Given the description of an element on the screen output the (x, y) to click on. 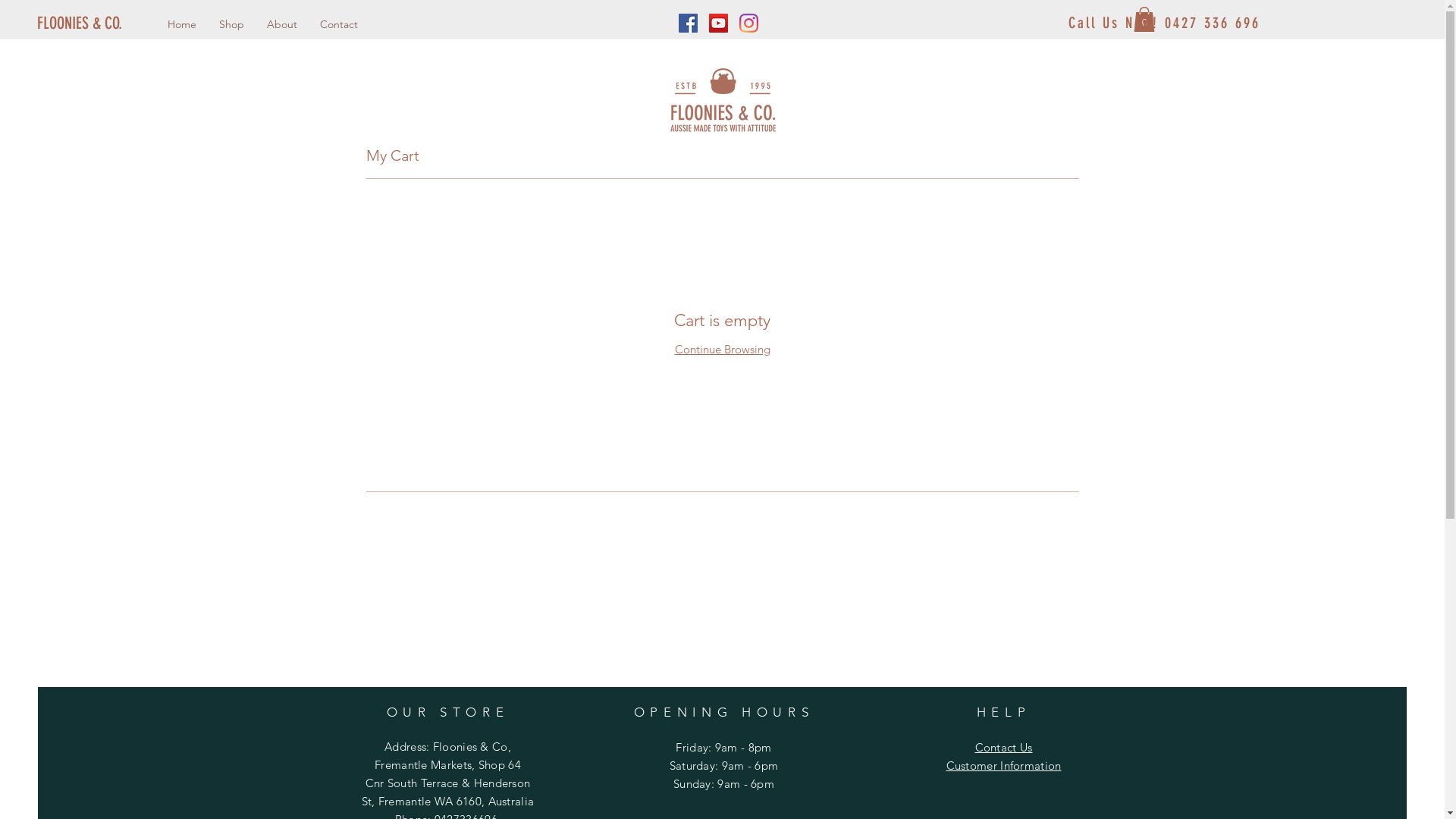
Contact Us Element type: text (1003, 747)
FLOONIES & CO. Element type: text (104, 23)
Continue Browsing Element type: text (722, 349)
Contact Element type: text (338, 24)
Shop Element type: text (231, 24)
0 Element type: text (1143, 18)
Customer Information Element type: text (1003, 765)
About Element type: text (281, 24)
Home Element type: text (181, 24)
